Given the description of an element on the screen output the (x, y) to click on. 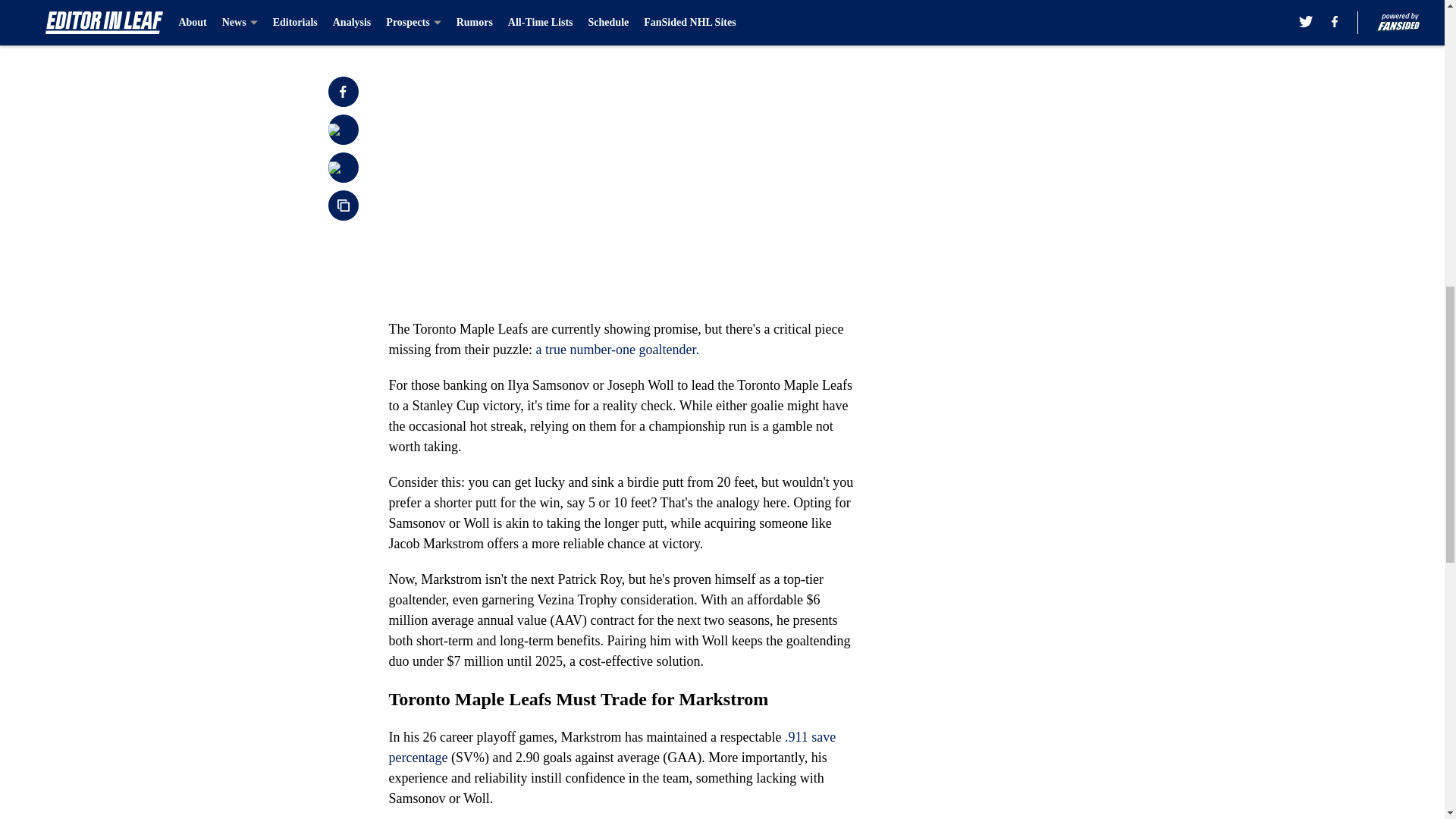
a true number-one goaltender. (616, 349)
.911 save percentage (611, 746)
